Given the description of an element on the screen output the (x, y) to click on. 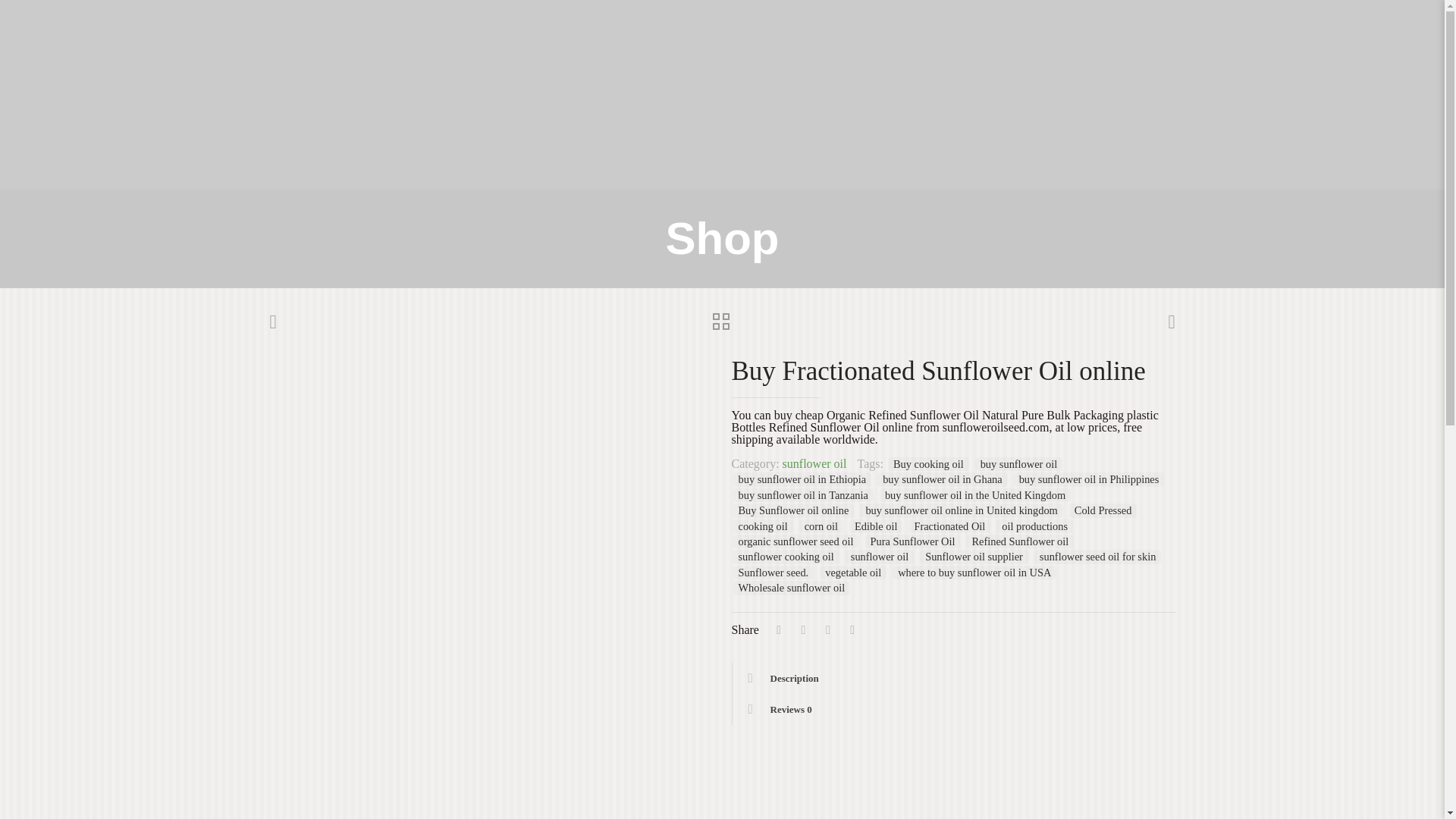
buy sunflower oil in the United Kingdom (974, 495)
Buy Sunflower oil online (792, 509)
buy sunflower oil online in United kingdom (961, 509)
Cold Pressed (1102, 509)
Buy cooking oil (928, 463)
buy sunflower oil in Tanzania (802, 495)
Edible oil (875, 526)
sunflower oil (815, 463)
buy sunflower oil in Ghana (942, 479)
buy sunflower oil in Ethiopia (801, 479)
buy sunflower oil in Philippines (1088, 479)
buy sunflower oil (1018, 463)
cooking oil (762, 526)
corn oil (821, 526)
